Given the description of an element on the screen output the (x, y) to click on. 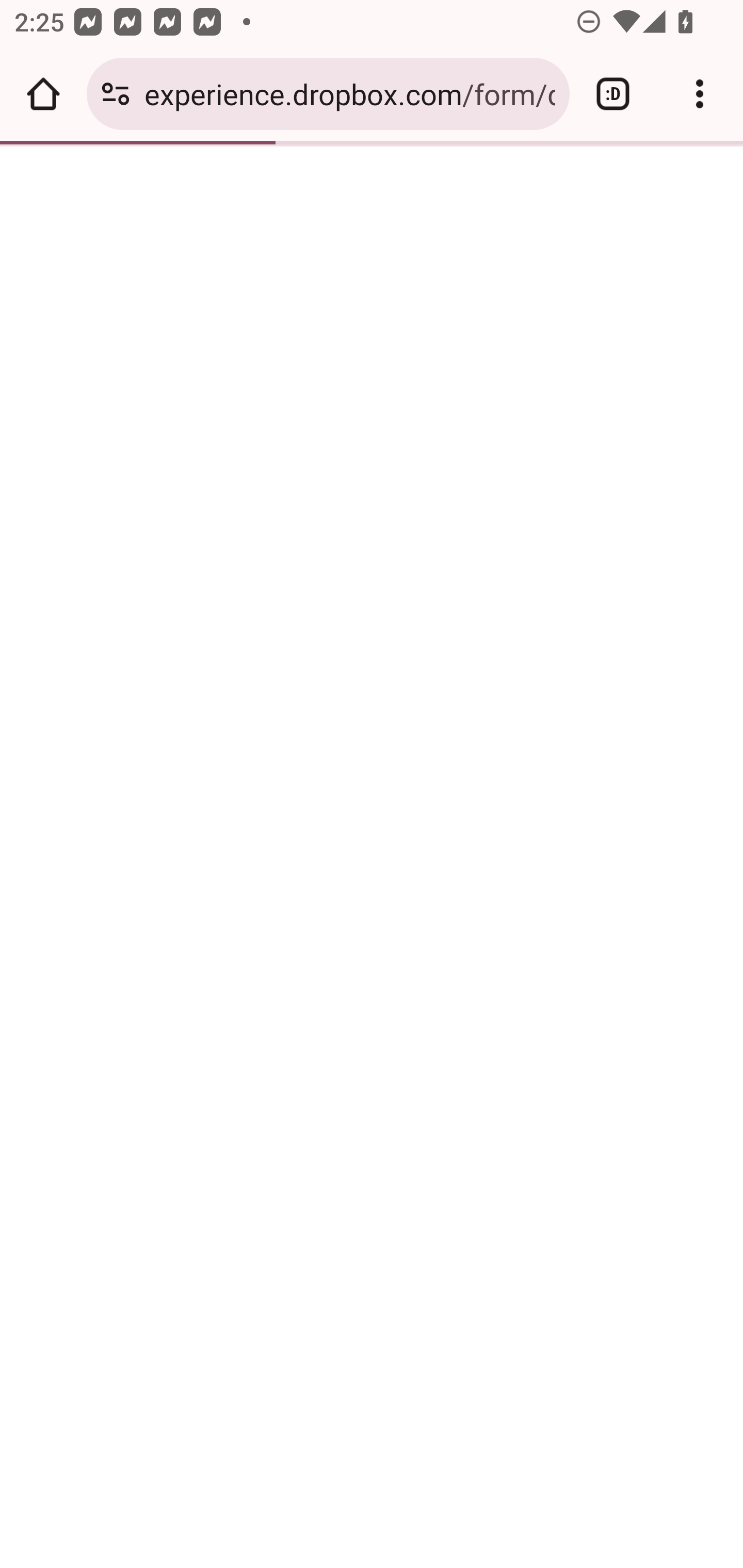
Open the home page (43, 93)
Connection is secure (115, 93)
Switch or close tabs (612, 93)
Customize and control Google Chrome (699, 93)
